Given the description of an element on the screen output the (x, y) to click on. 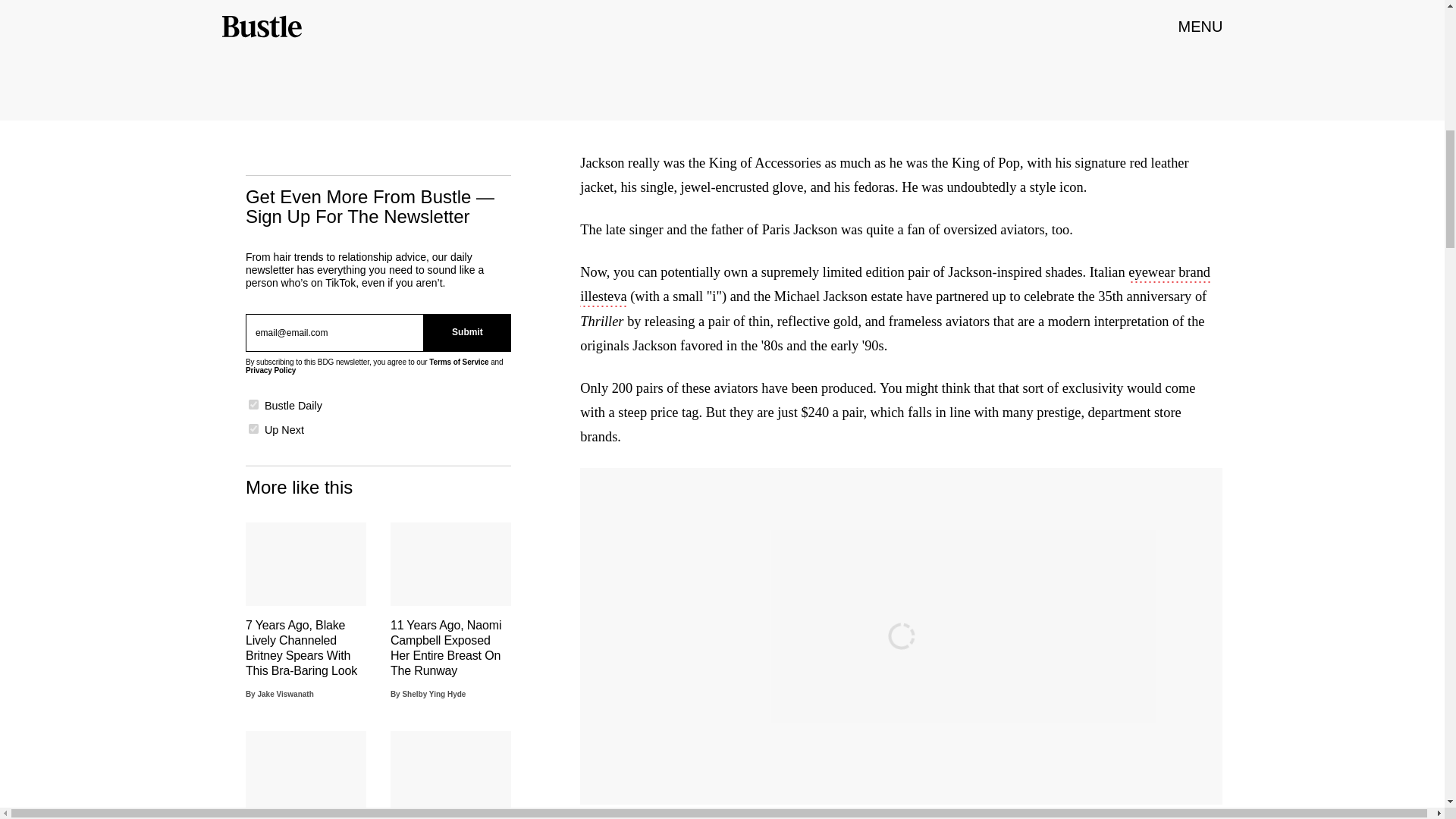
Submit (467, 332)
Privacy Policy (270, 370)
eyewear brand illesteva (894, 285)
Terms of Service (458, 361)
